Given the description of an element on the screen output the (x, y) to click on. 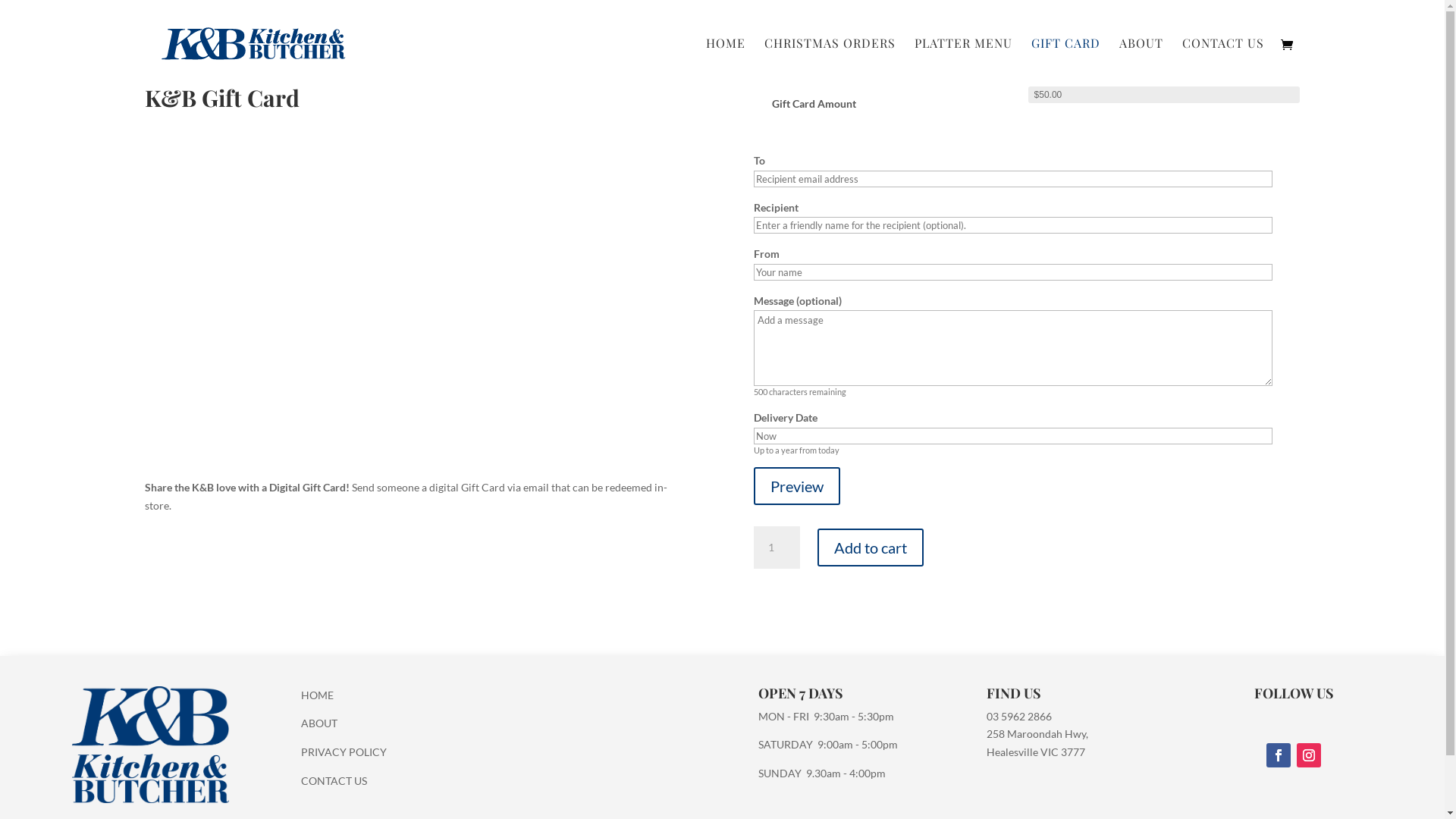
CHRISTMAS ORDERS Element type: text (829, 61)
CONTACT US Element type: text (1222, 61)
Follow on Facebook Element type: hover (1278, 755)
CONTACT US Element type: text (334, 780)
PRIVACY POLICY Element type: text (343, 751)
HOME Element type: text (724, 61)
Preview Element type: text (796, 486)
HOME Element type: text (317, 694)
Add to cart Element type: text (870, 547)
Follow on Instagram Element type: hover (1308, 755)
ABOUT Element type: text (1141, 61)
GIFT CARD Element type: text (1065, 61)
PLATTER MENU Element type: text (963, 61)
ABOUT Element type: text (319, 722)
